Given the description of an element on the screen output the (x, y) to click on. 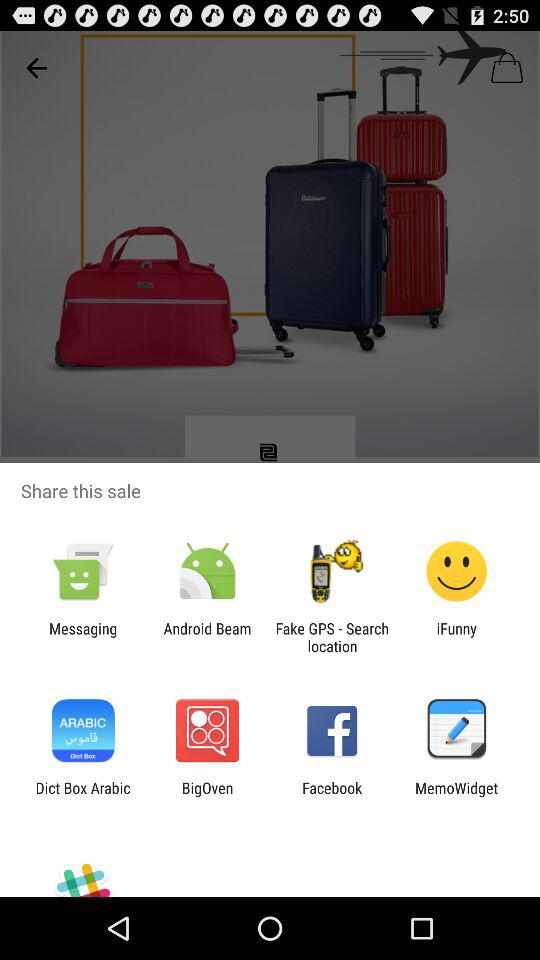
launch the item next to bigoven icon (332, 796)
